Given the description of an element on the screen output the (x, y) to click on. 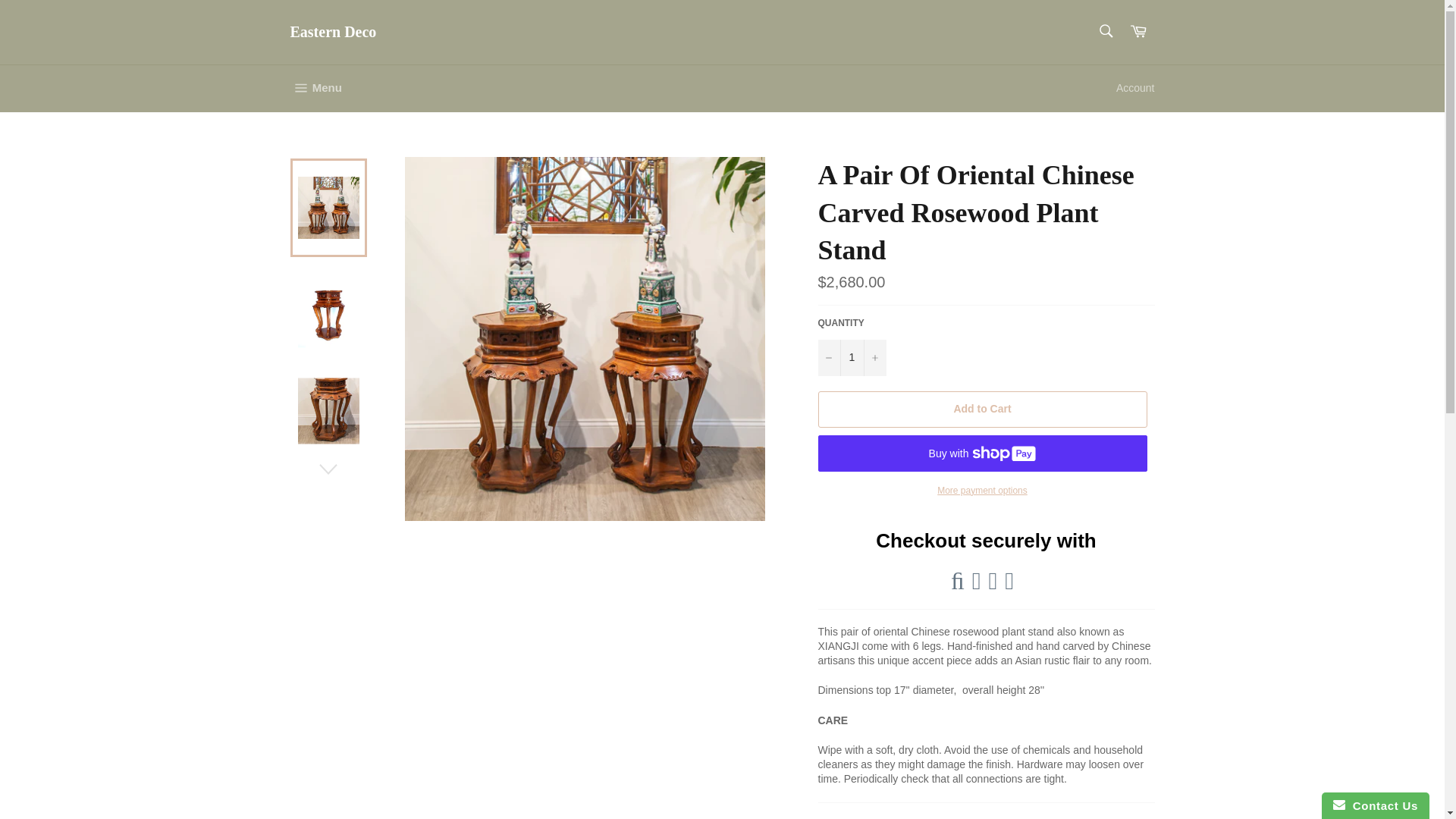
Account (1134, 88)
Search (315, 88)
1 (1104, 30)
Cart (850, 357)
Eastern Deco (1138, 32)
